Given the description of an element on the screen output the (x, y) to click on. 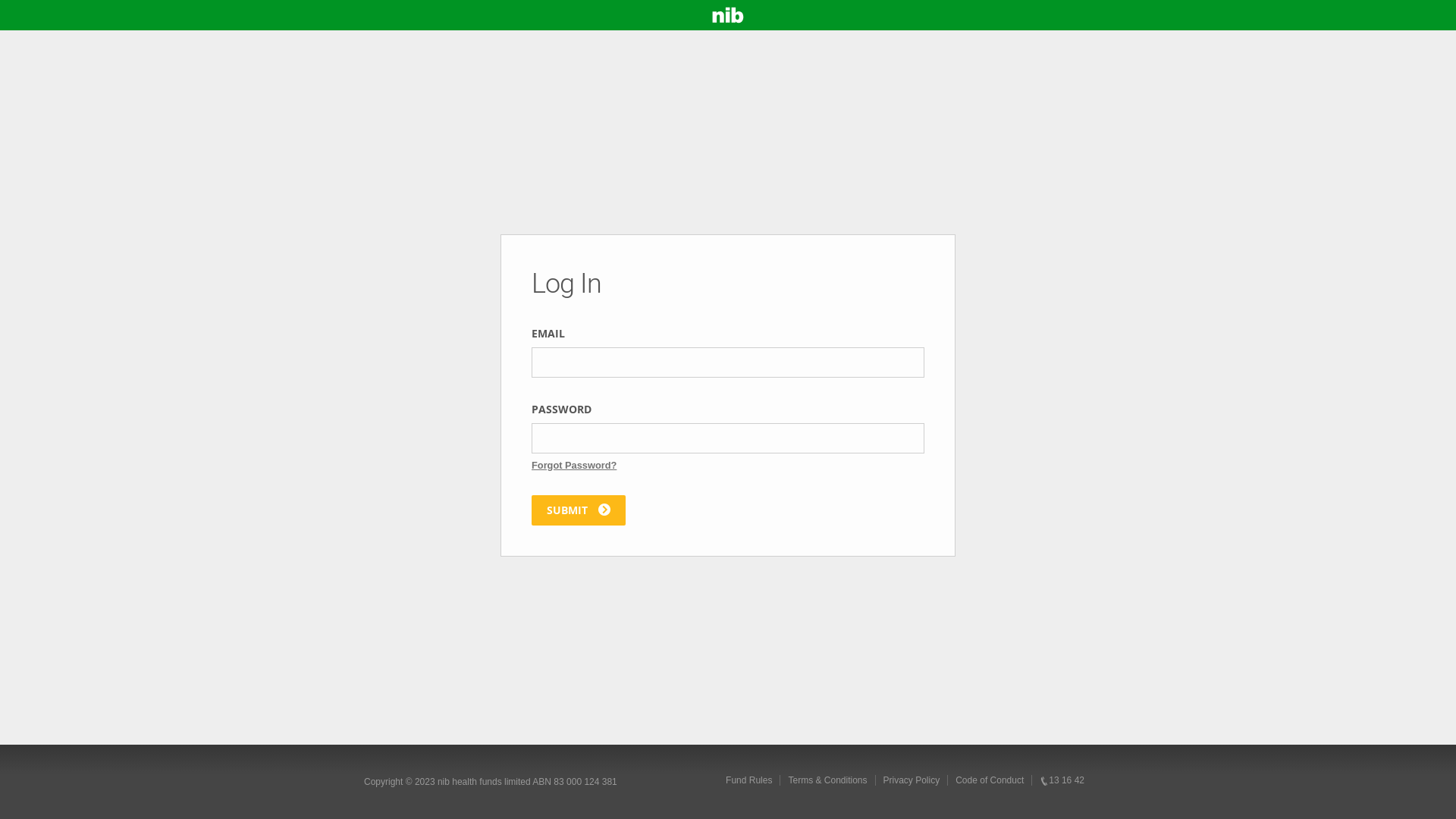
SUBMIT Element type: text (578, 509)
Fund Rules Element type: text (748, 780)
Code of Conduct Element type: text (989, 780)
Forgot Password? Element type: text (573, 464)
Terms & Conditions Element type: text (826, 780)
13 16 42 Element type: text (1061, 780)
nib Private Health Insurance Element type: text (727, 14)
Privacy Policy Element type: text (911, 780)
